Given the description of an element on the screen output the (x, y) to click on. 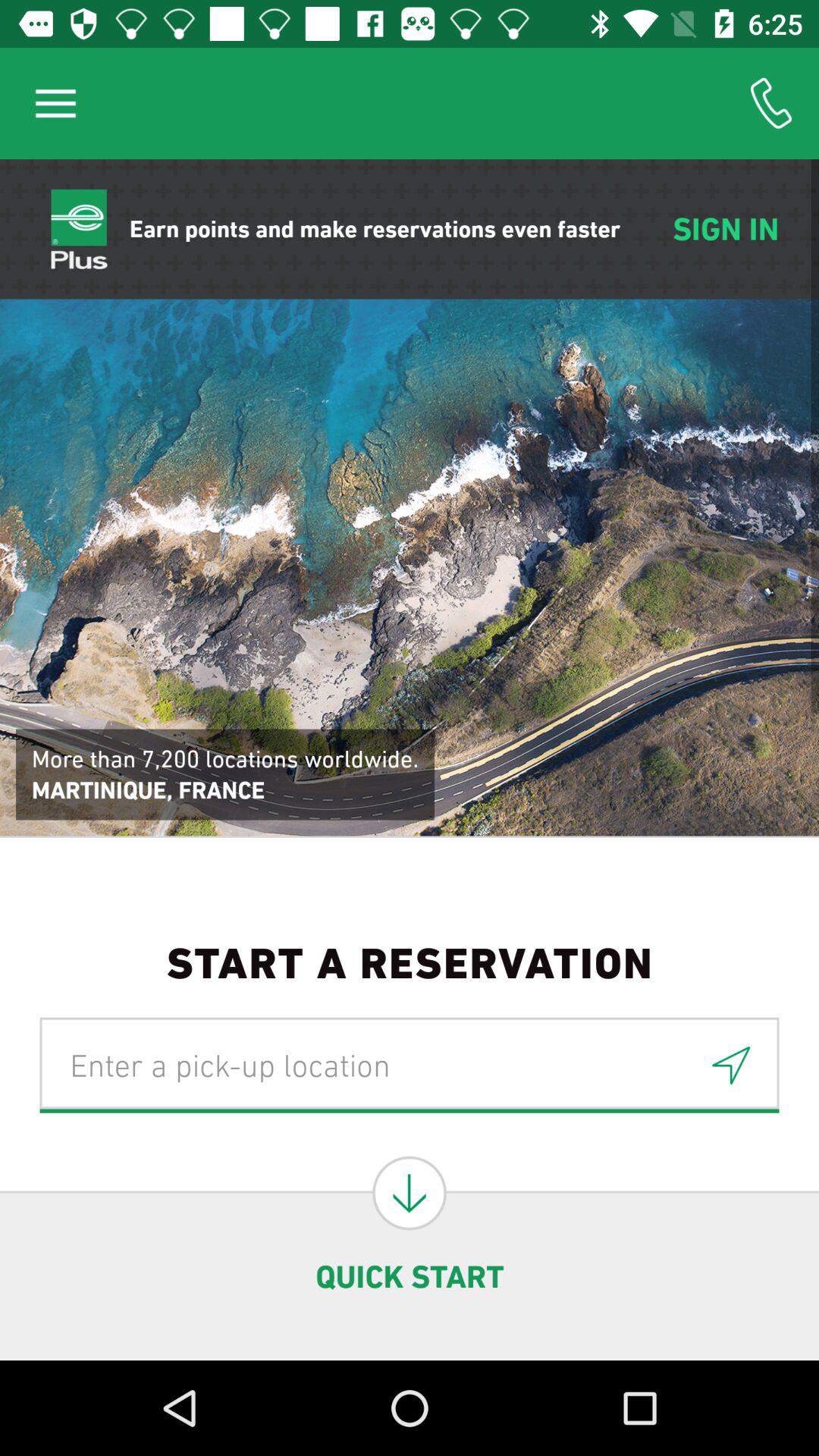
choose the icon to the left of the earn points and (55, 103)
